Given the description of an element on the screen output the (x, y) to click on. 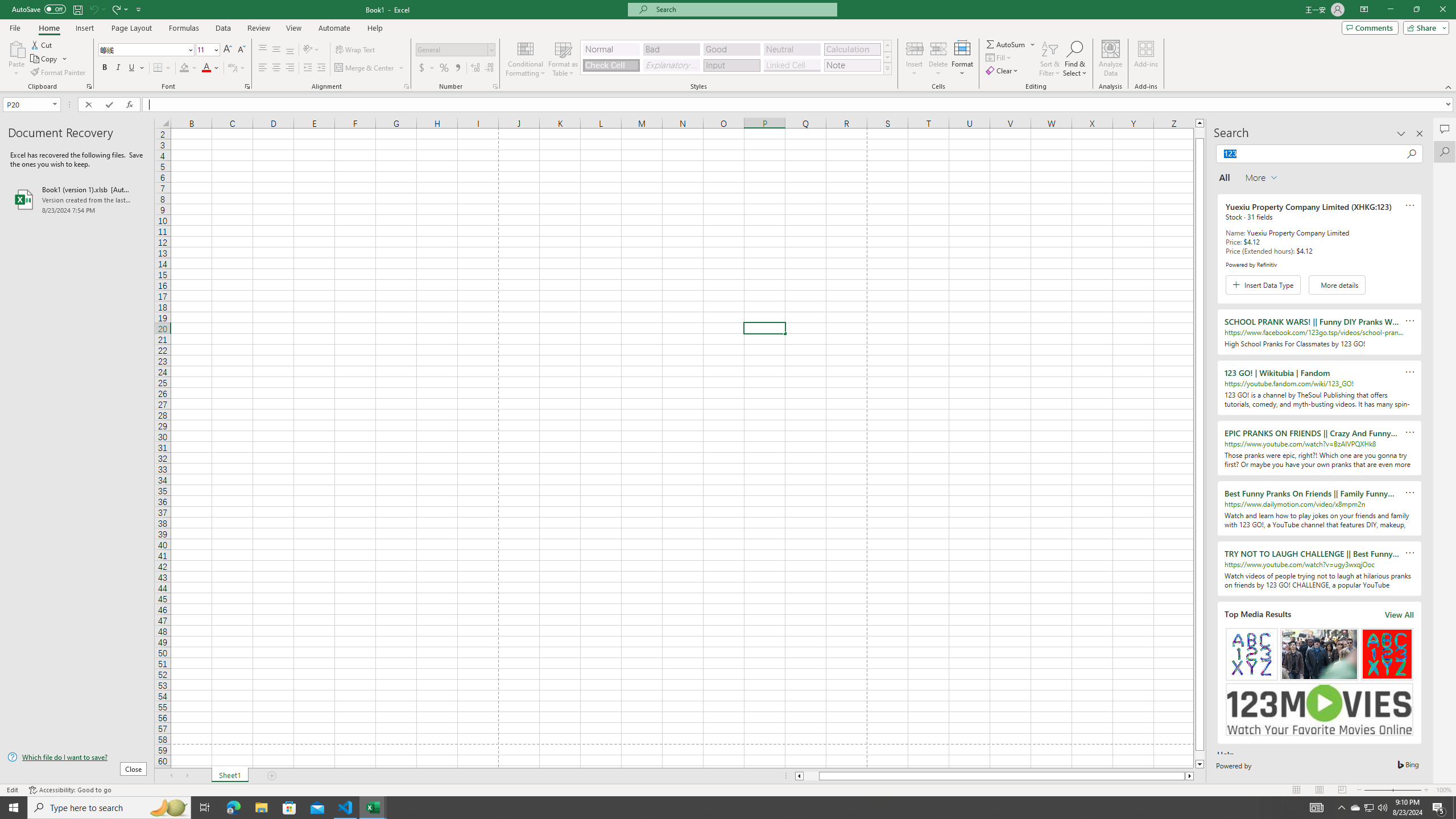
Font (142, 49)
Sum (1006, 44)
Increase Font Size (227, 49)
Good (731, 49)
Percent Style (443, 67)
Underline (136, 67)
Delete (938, 58)
